Given the description of an element on the screen output the (x, y) to click on. 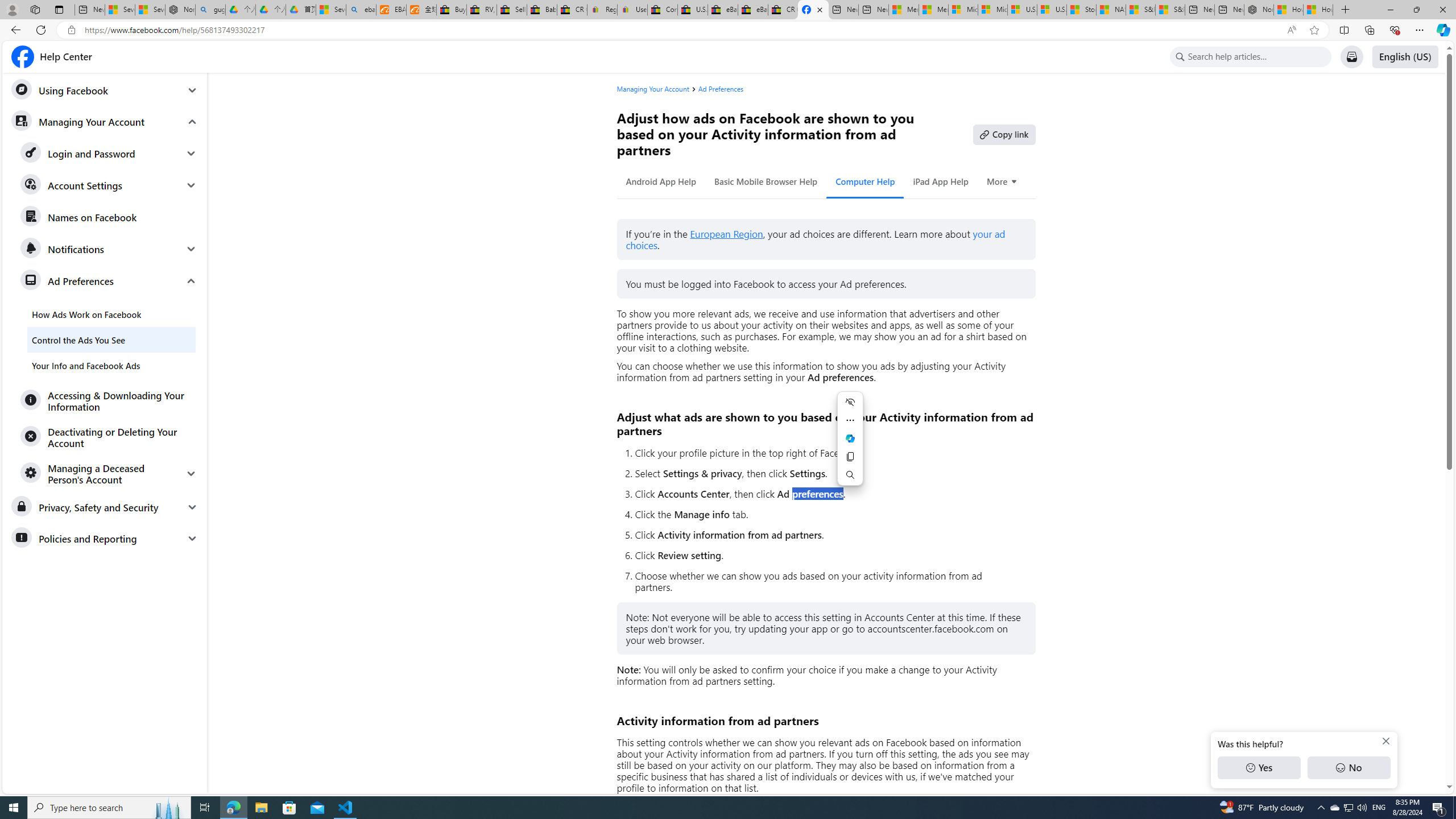
Basic Mobile Browser Help (765, 181)
Change Language: English (US) (1404, 56)
your ad choices (816, 239)
Control the Ads You See (111, 339)
Deactivating or Deleting Your Account (108, 436)
Using Facebook (104, 90)
